Given the description of an element on the screen output the (x, y) to click on. 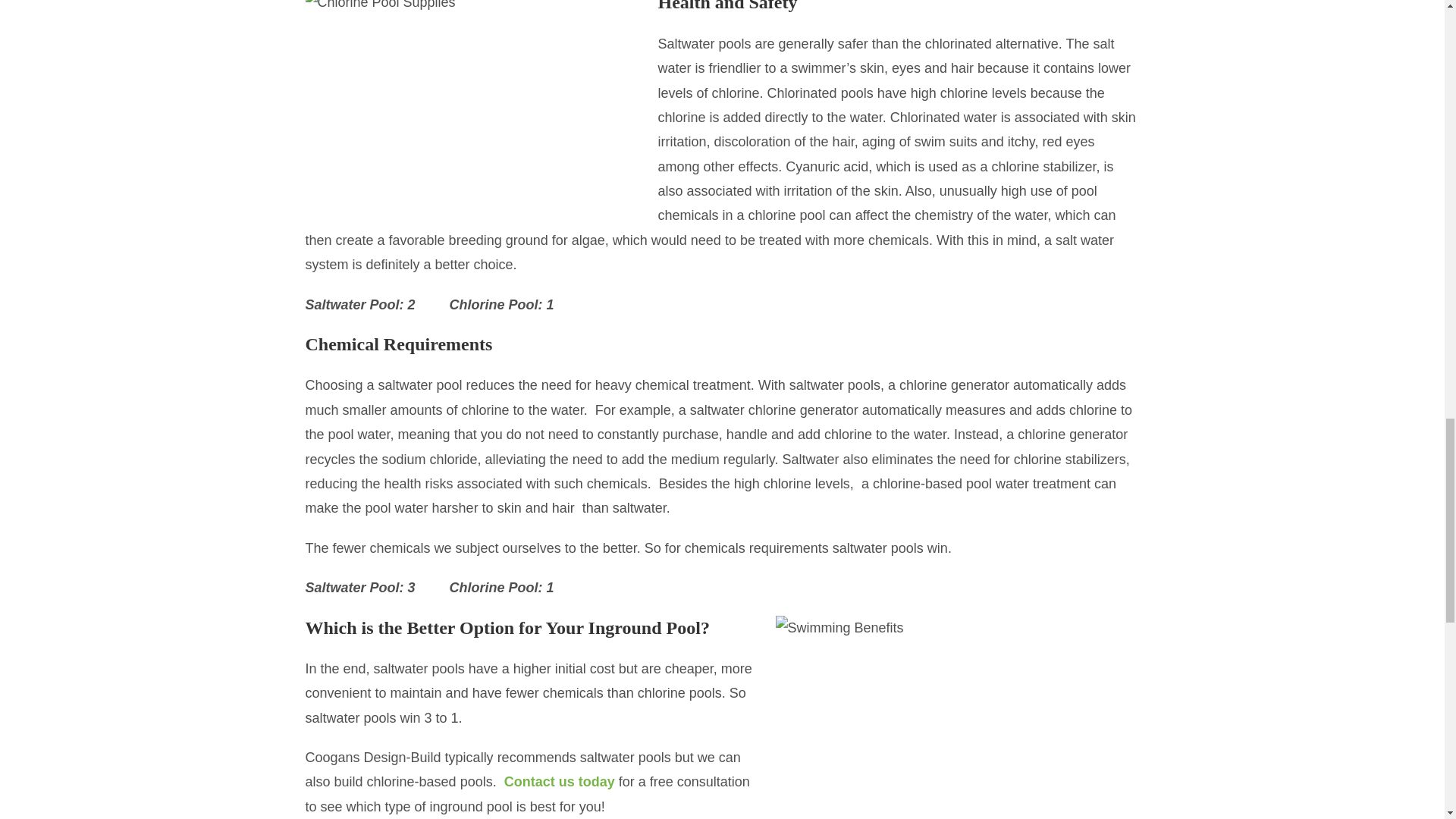
Contact us today (558, 781)
